Given the description of an element on the screen output the (x, y) to click on. 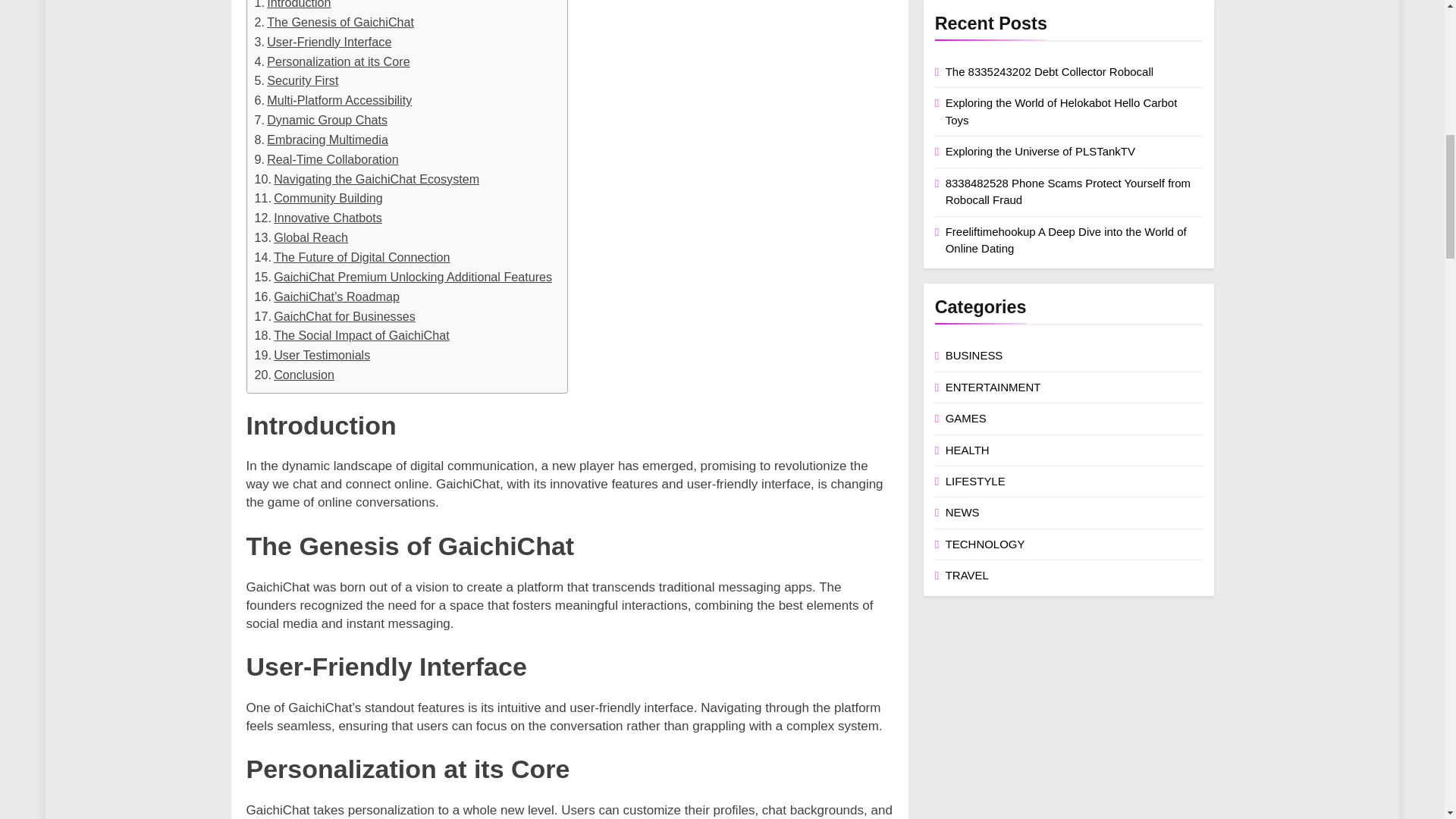
The Genesis of GaichiChat (334, 22)
Community Building (318, 198)
Real-Time Collaboration (326, 159)
Real-Time Collaboration (326, 159)
Security First (296, 80)
Embracing Multimedia (321, 139)
Innovative Chatbots (317, 218)
Embracing Multimedia (321, 139)
The Future of Digital Connection (351, 257)
Navigating the GaichiChat Ecosystem (367, 179)
Multi-Platform Accessibility (333, 100)
Dynamic Group Chats (320, 120)
Global Reach (301, 238)
Multi-Platform Accessibility (333, 100)
Introduction (292, 6)
